Given the description of an element on the screen output the (x, y) to click on. 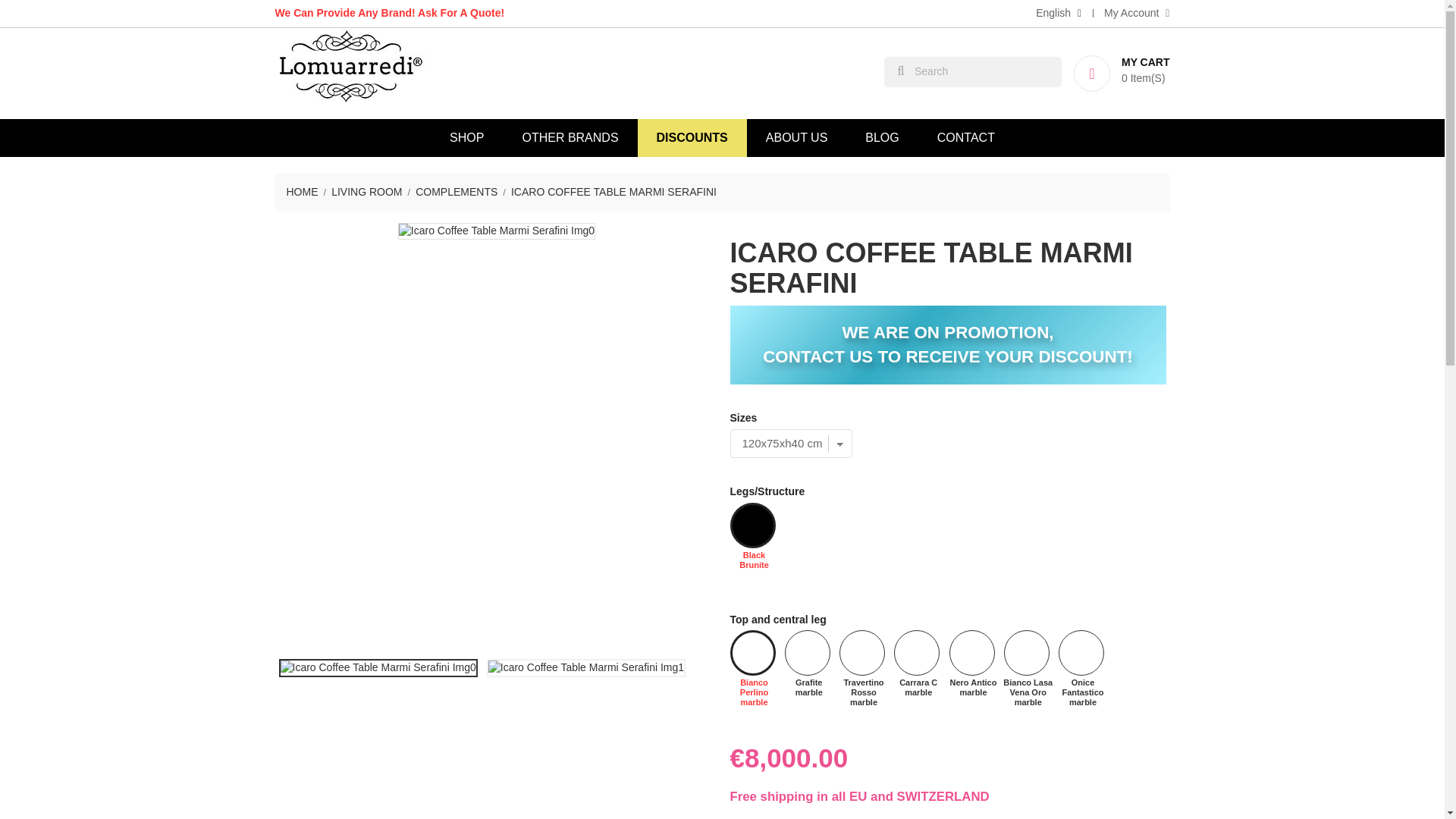
English (1058, 13)
Icaro Coffee Table Marmi Serafini Img1 (585, 668)
Icaro Coffee Table Marmi Serafini Img0 (496, 230)
Icaro Coffee Table Marmi Serafini Img0 (378, 668)
SHOP (466, 137)
